Given the description of an element on the screen output the (x, y) to click on. 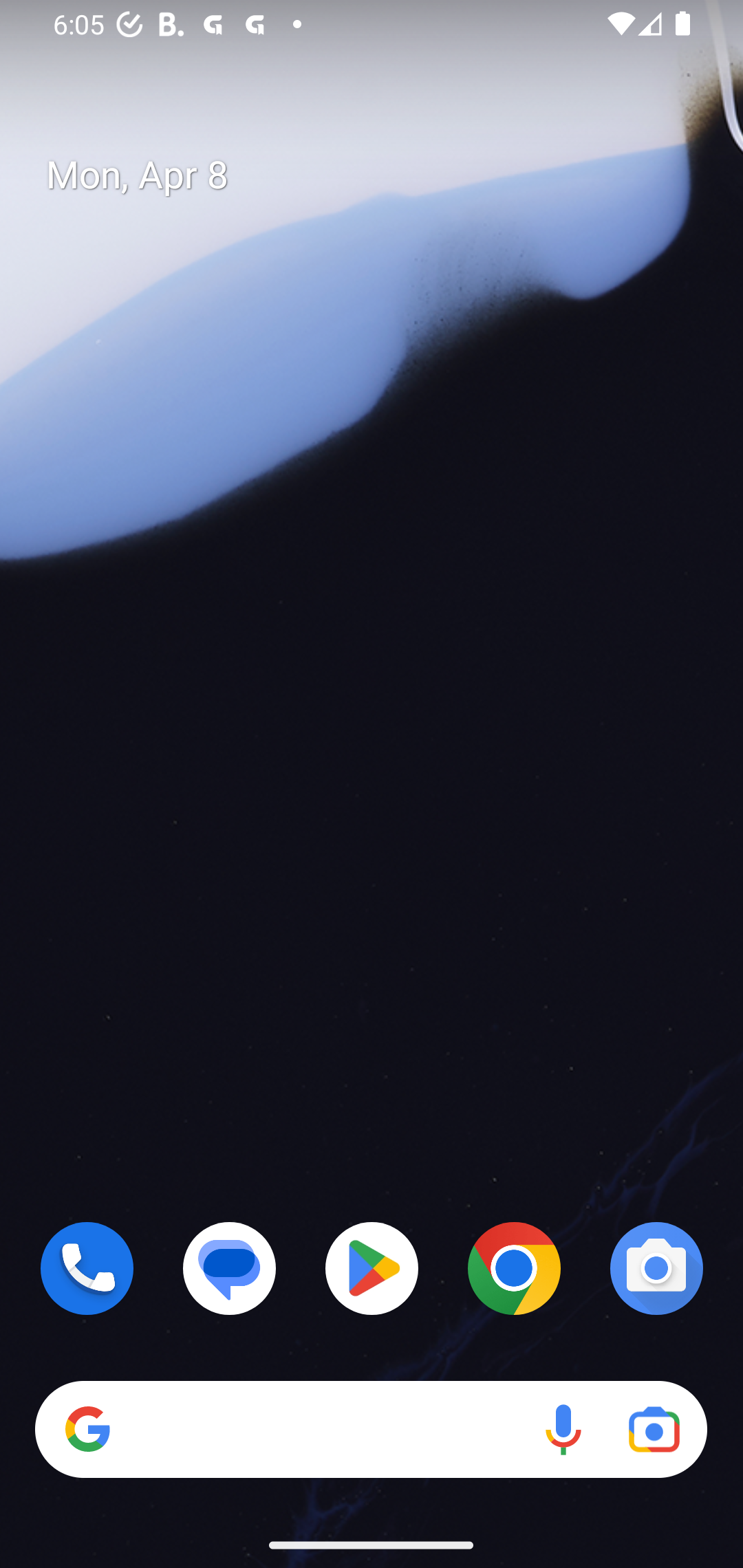
Mon, Apr 8 (386, 175)
Phone (86, 1268)
Messages (229, 1268)
Play Store (371, 1268)
Chrome (513, 1268)
Camera (656, 1268)
Search Voice search Google Lens (370, 1429)
Voice search (562, 1429)
Google Lens (653, 1429)
